Given the description of an element on the screen output the (x, y) to click on. 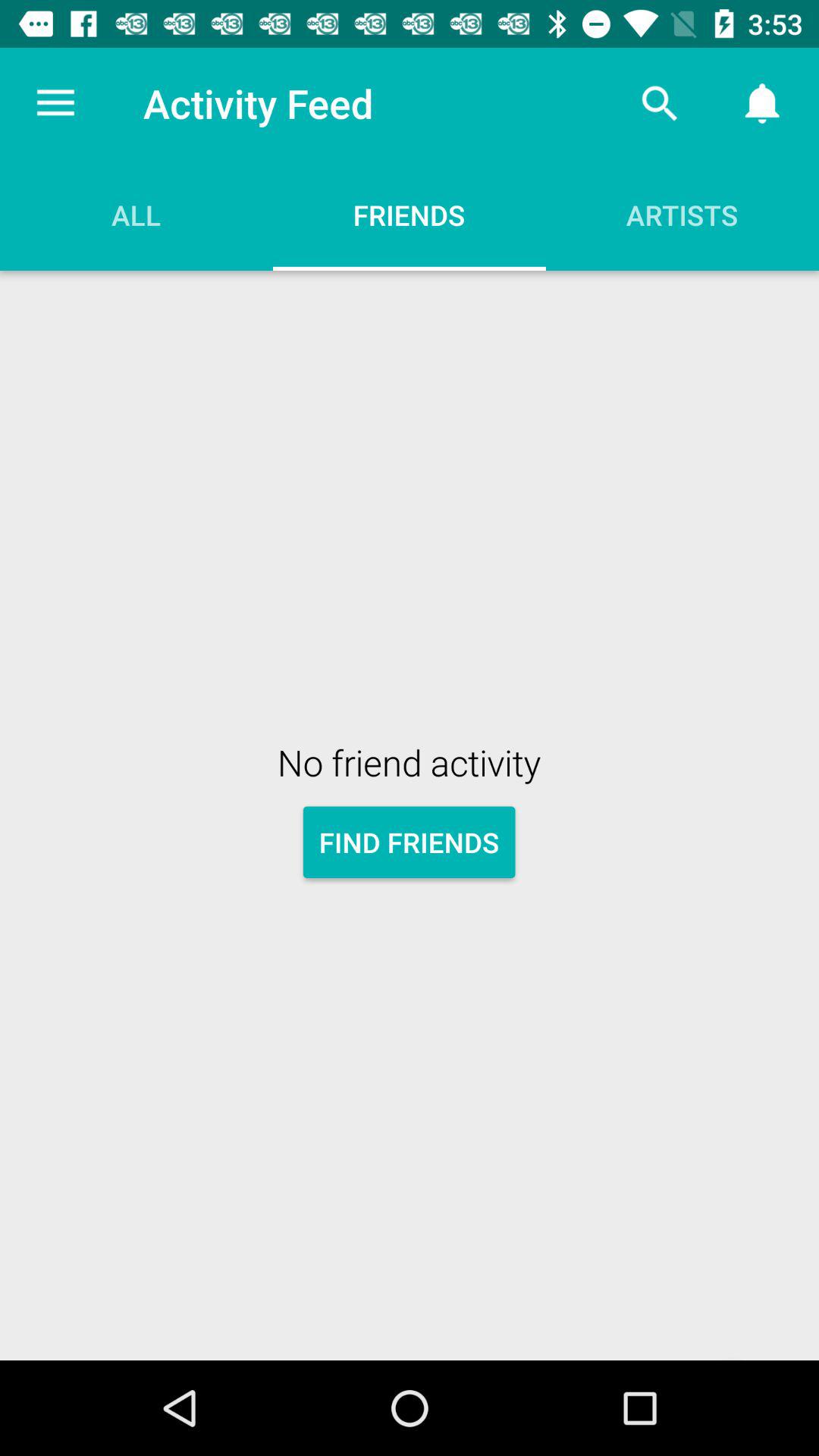
click icon next to the activity feed item (659, 103)
